Given the description of an element on the screen output the (x, y) to click on. 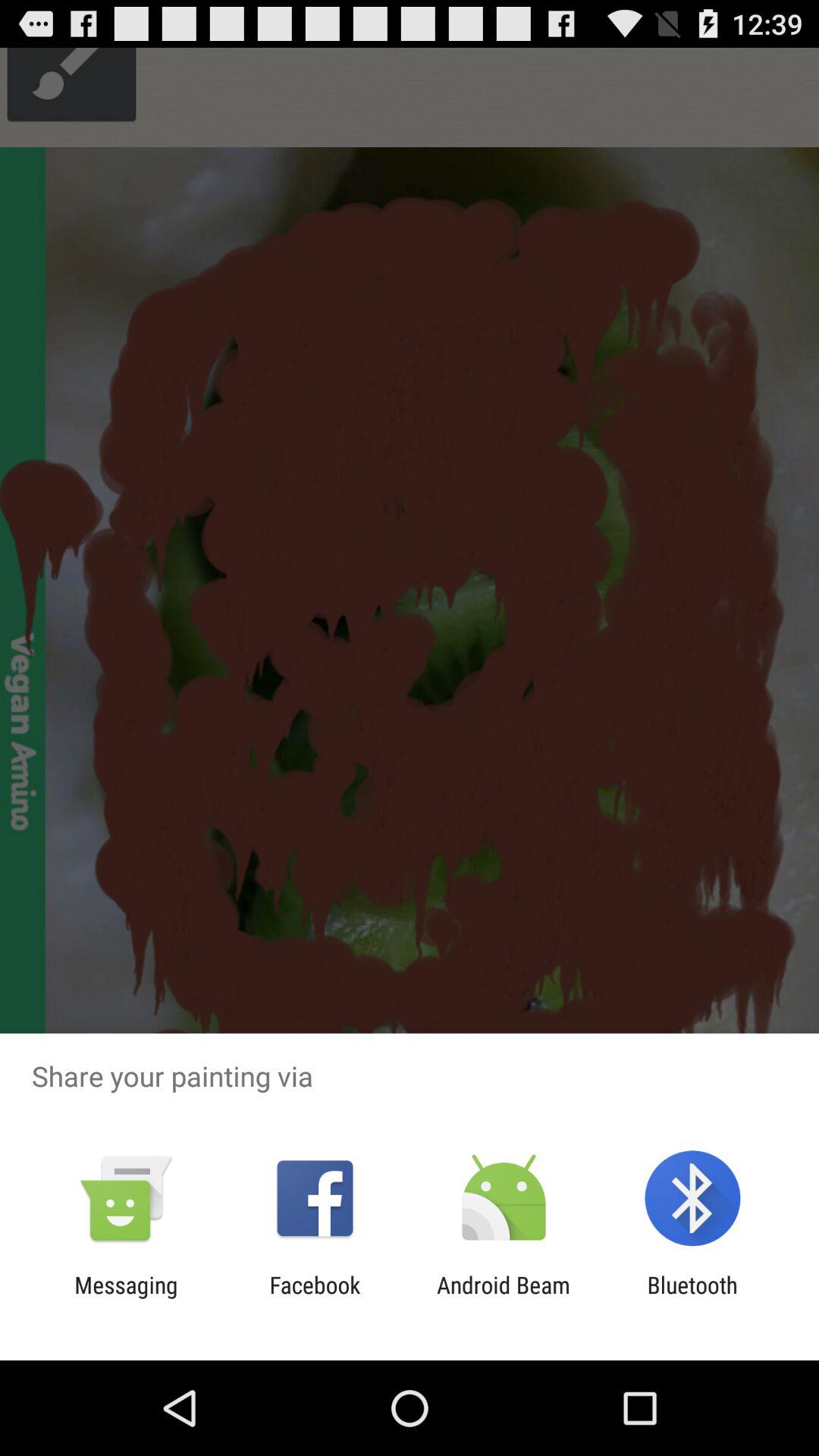
choose android beam app (503, 1298)
